Given the description of an element on the screen output the (x, y) to click on. 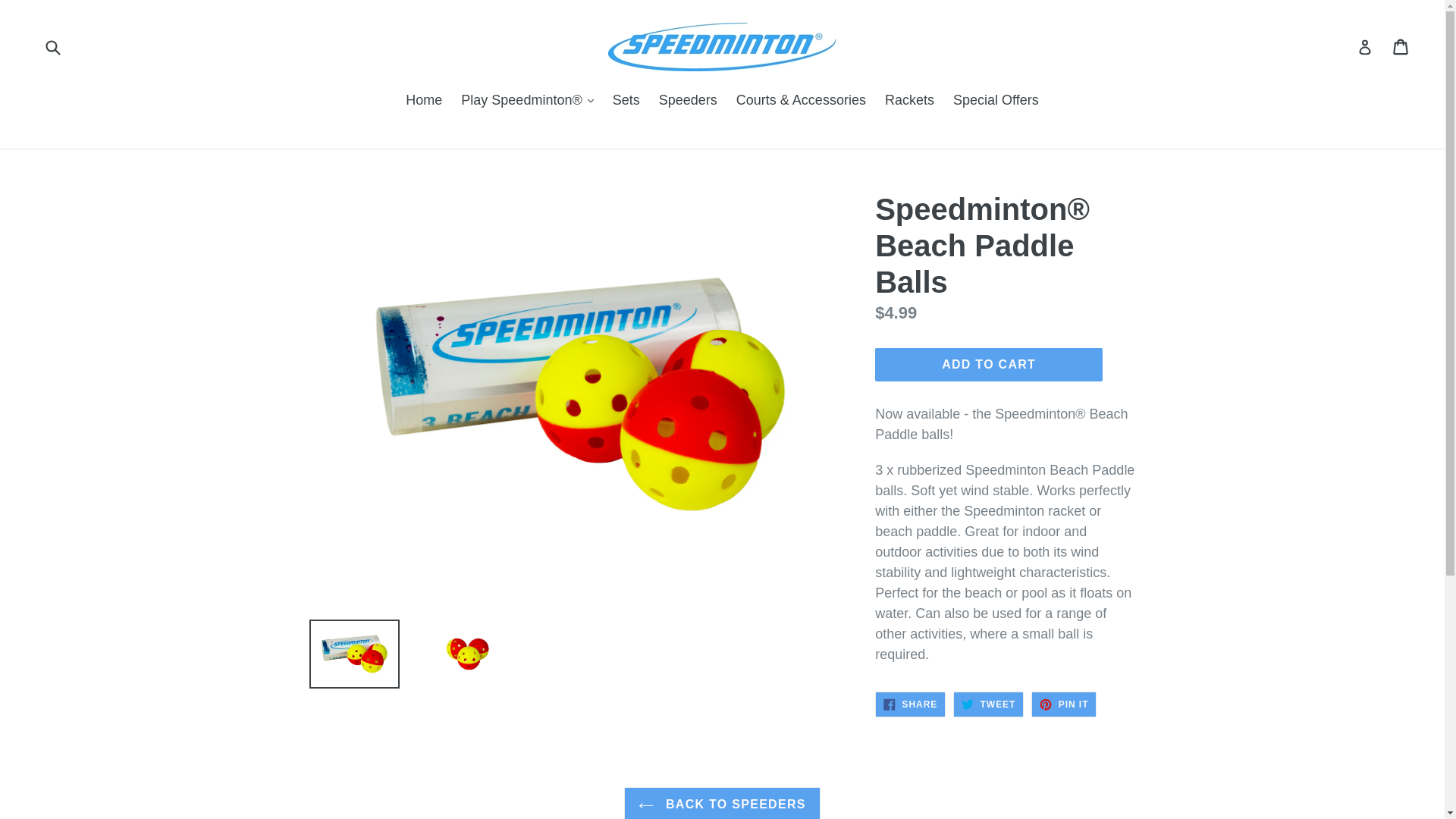
Home (423, 101)
Share on Facebook (909, 704)
Special Offers (995, 101)
Sets (626, 101)
BACK TO SPEEDERS (721, 803)
Rackets (909, 101)
Pin on Pinterest (1063, 704)
ADD TO CART (909, 704)
Speeders (988, 364)
